Given the description of an element on the screen output the (x, y) to click on. 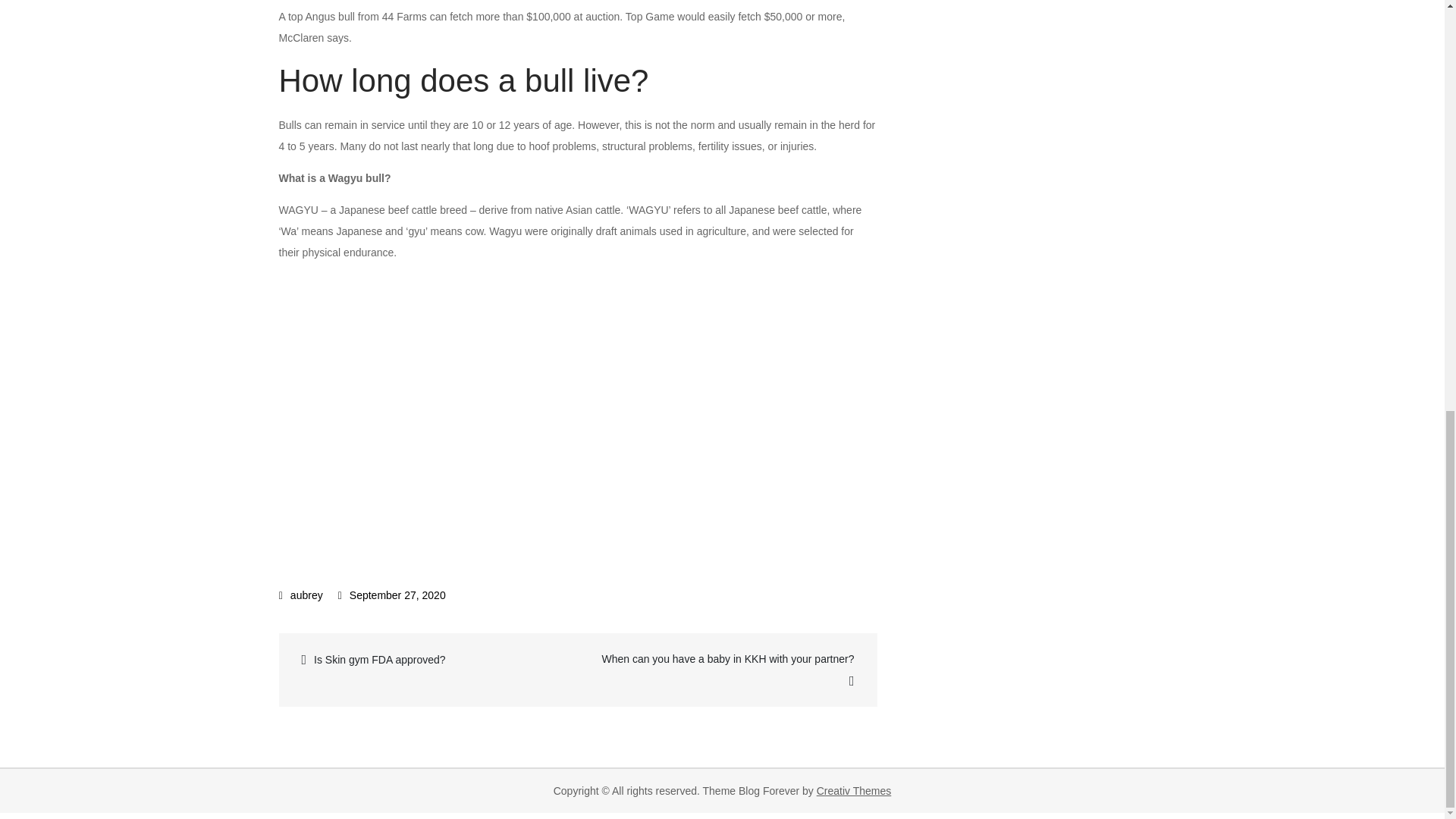
When can you have a baby in KKH with your partner? (725, 669)
September 27, 2020 (391, 594)
MBJ CASH 84 Red Brangus 01 (521, 410)
Is Skin gym FDA approved? (430, 659)
aubrey (301, 594)
Creativ Themes (853, 790)
